Given the description of an element on the screen output the (x, y) to click on. 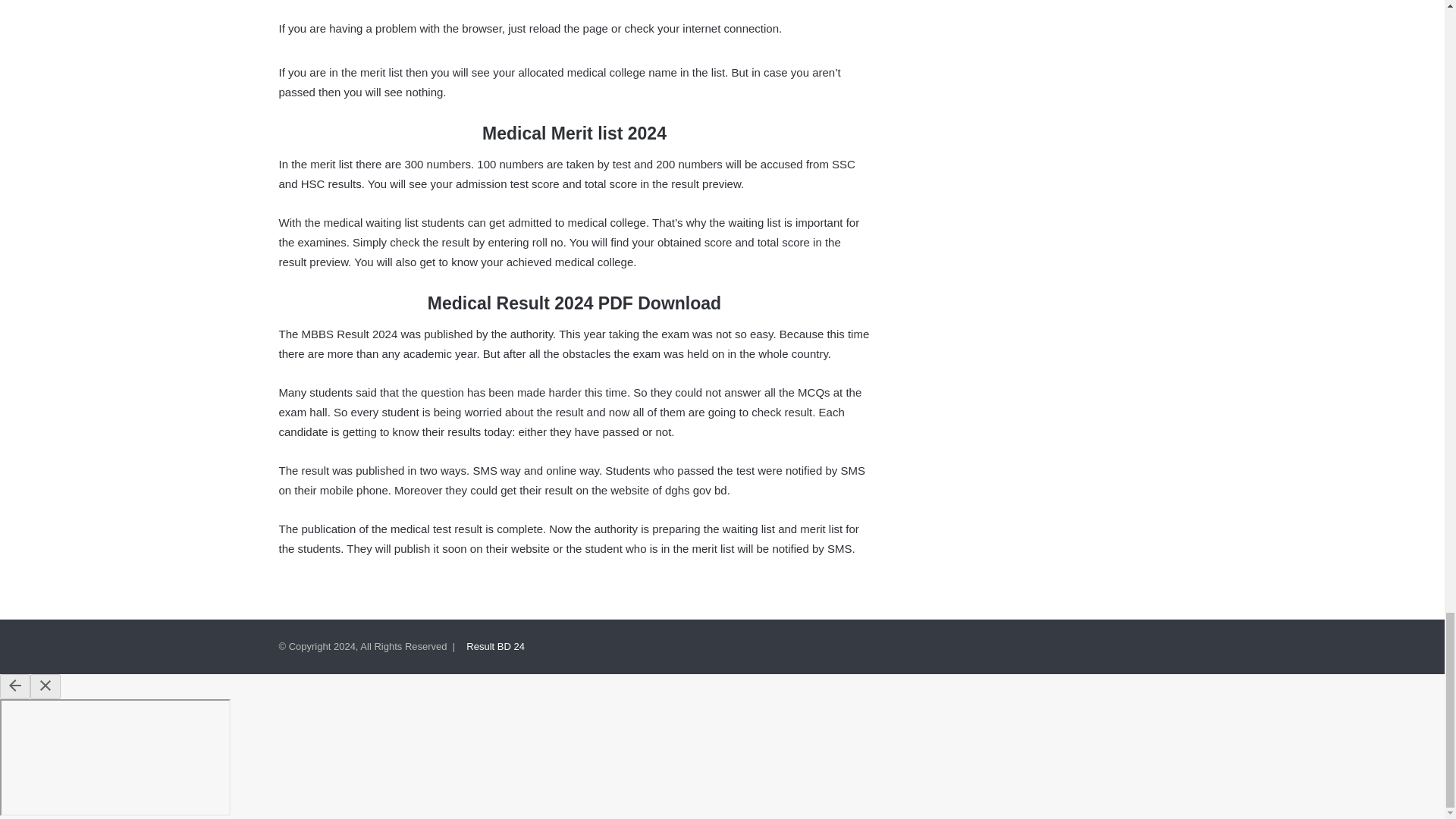
Result BD 24 (494, 645)
